Given the description of an element on the screen output the (x, y) to click on. 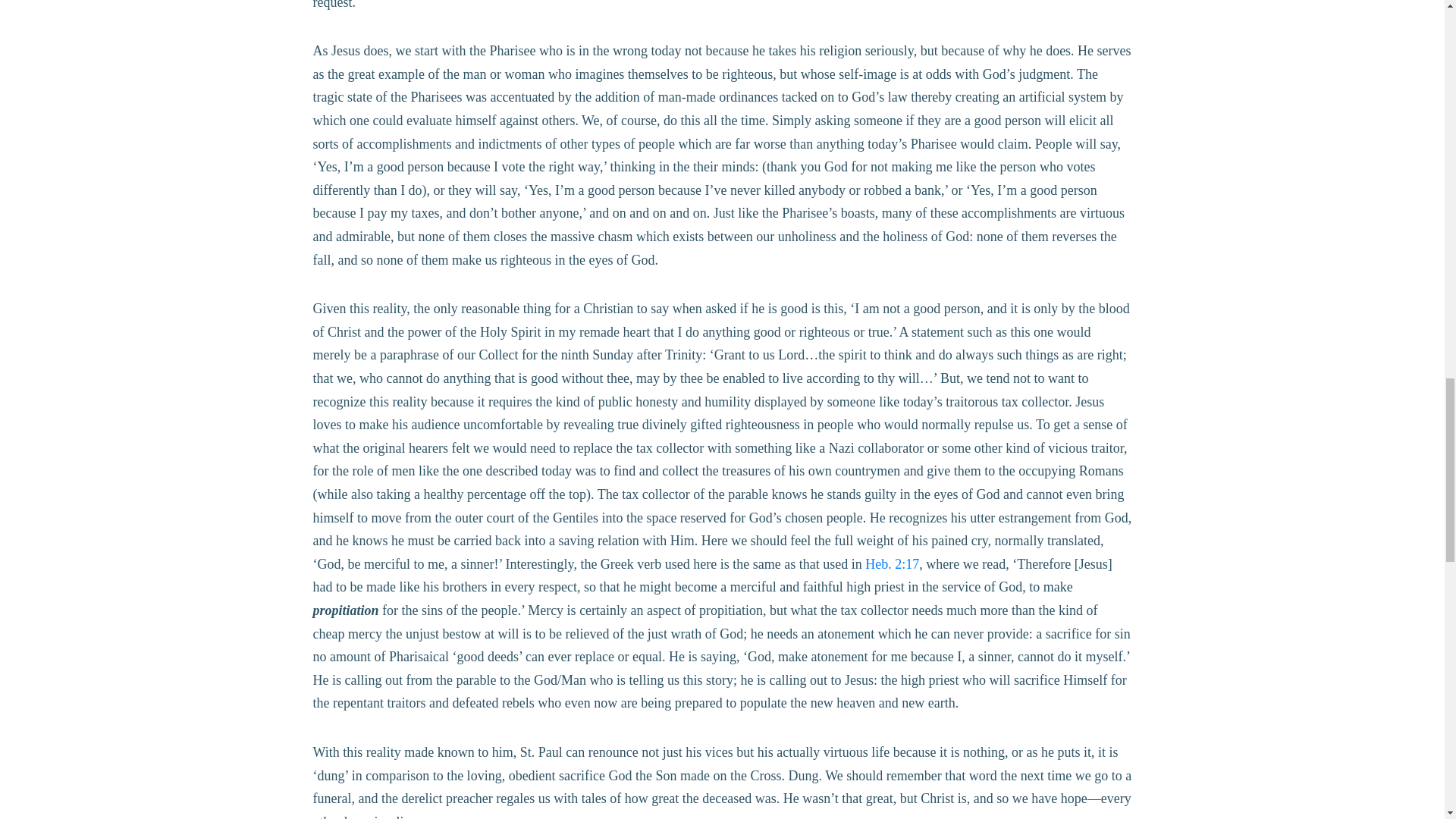
Heb. 2:17 (891, 563)
